Given the description of an element on the screen output the (x, y) to click on. 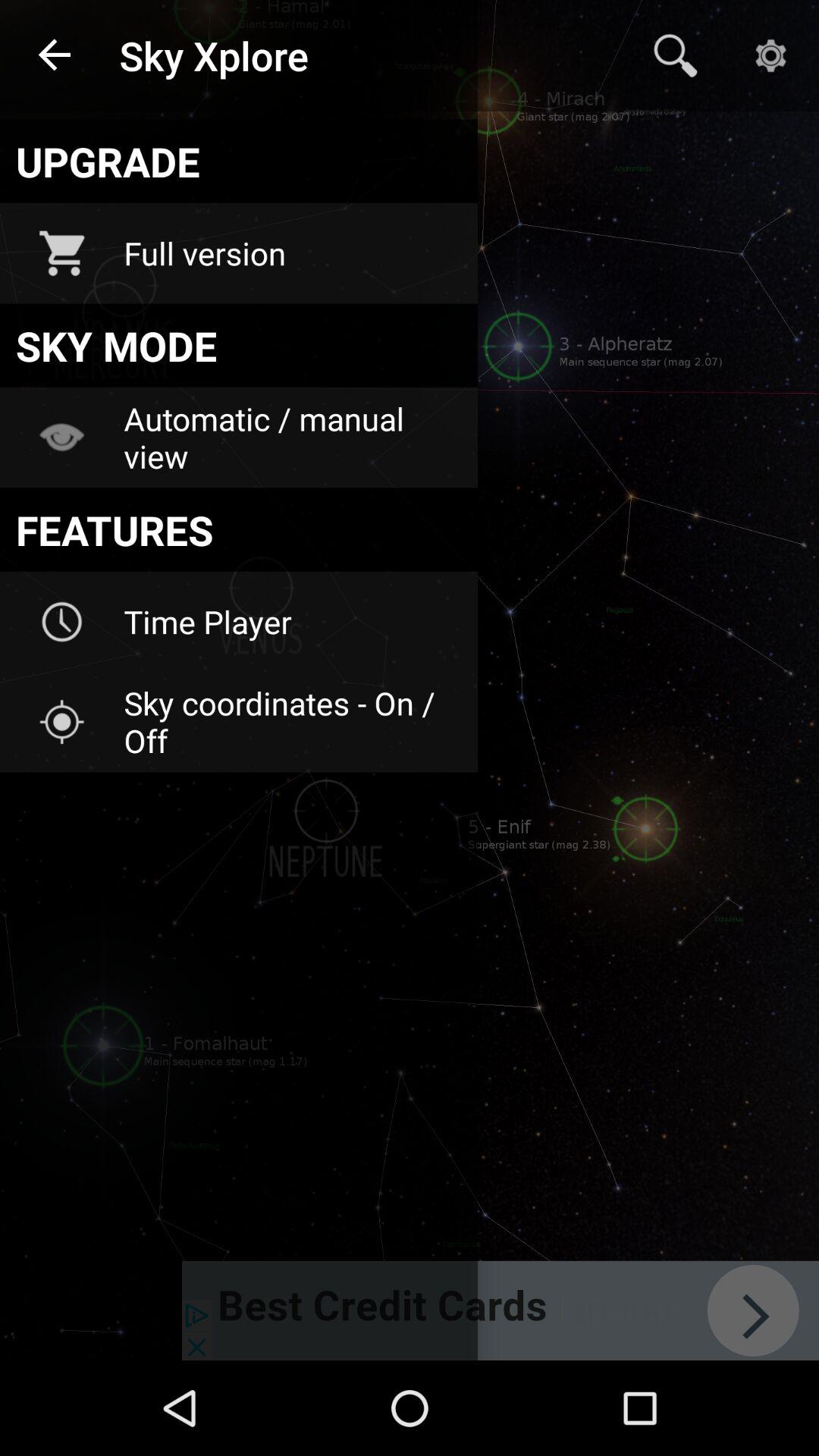
swipe until the sky coordinates on icon (290, 721)
